Given the description of an element on the screen output the (x, y) to click on. 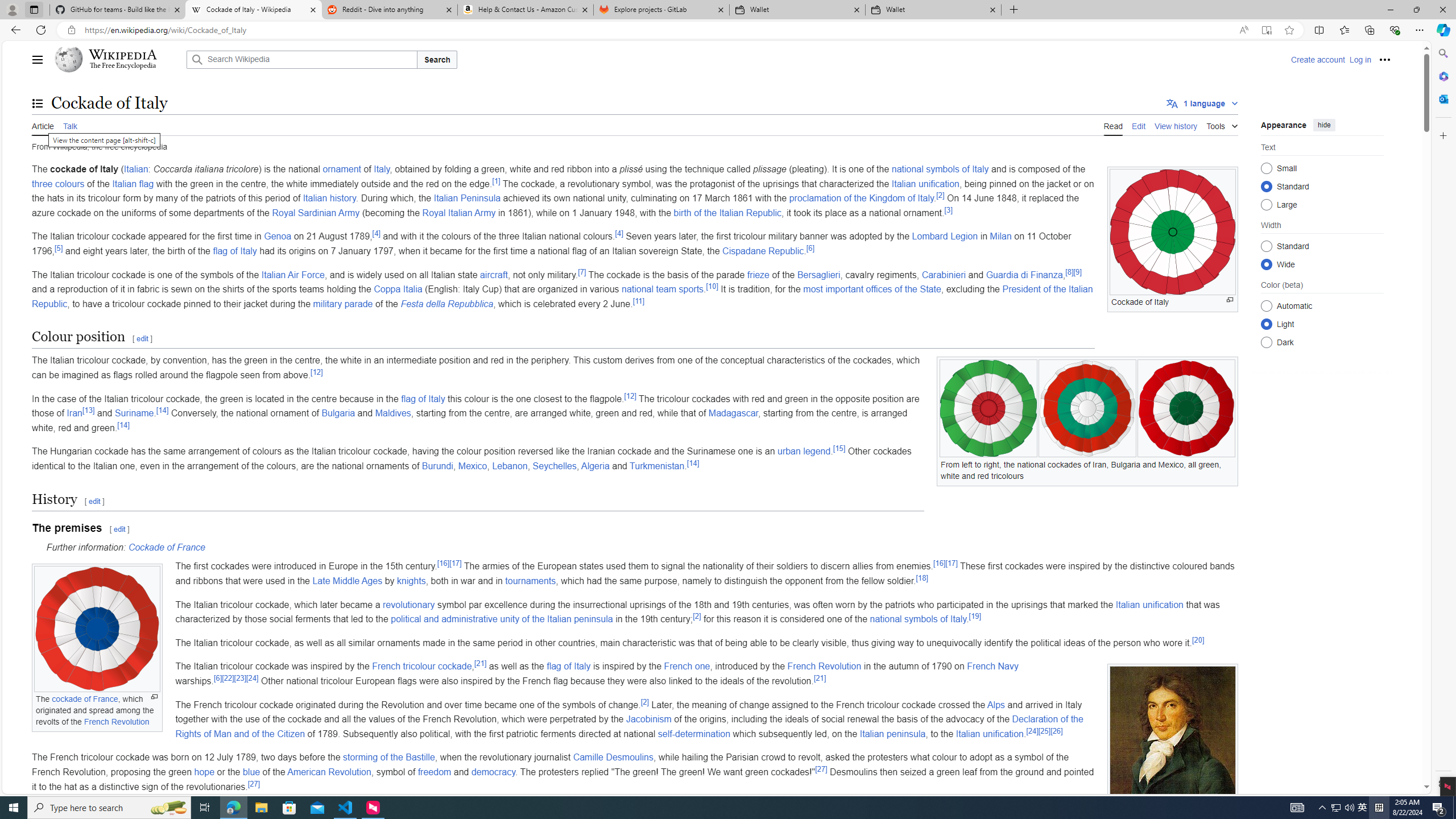
[1] (496, 180)
Edit (1138, 124)
Dark (1266, 341)
Wikipedia The Free Encyclopedia (117, 59)
Log in (1360, 58)
Personal tools (1384, 59)
Declaration of the Rights of Man and of the Citizen (628, 726)
Bersaglieri (818, 274)
Log in (1360, 58)
tournaments (530, 580)
Italian unification (989, 733)
View history (1176, 124)
freedom (434, 771)
Jacobinism (648, 719)
